Given the description of an element on the screen output the (x, y) to click on. 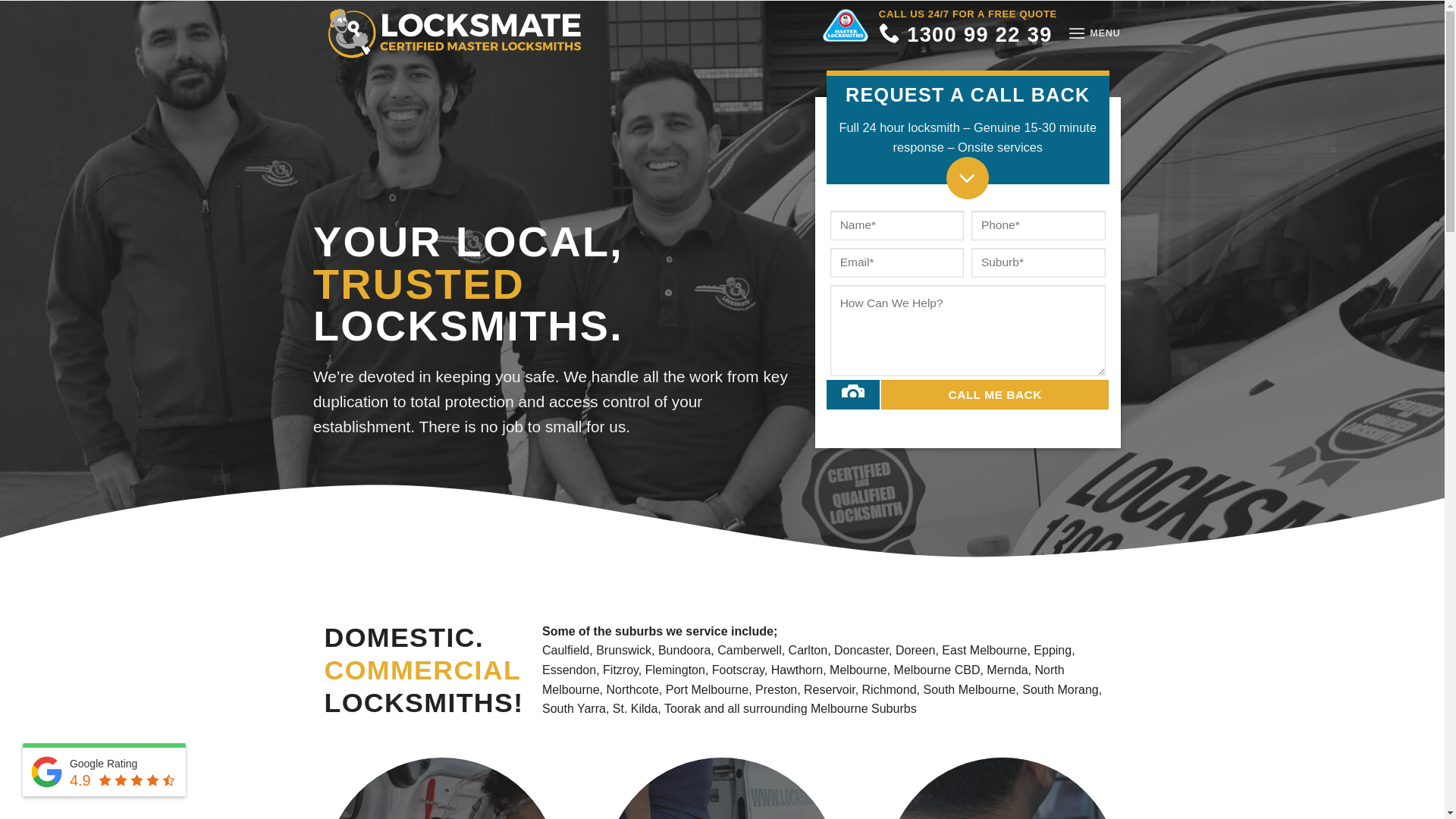
1300 99 22 39 Element type: text (965, 38)
Locksmate Locksmith & Security -  Element type: hover (454, 32)
MENU Element type: text (1093, 32)
Call Me back Element type: text (994, 394)
Skip to content Element type: text (0, 0)
